Given the description of an element on the screen output the (x, y) to click on. 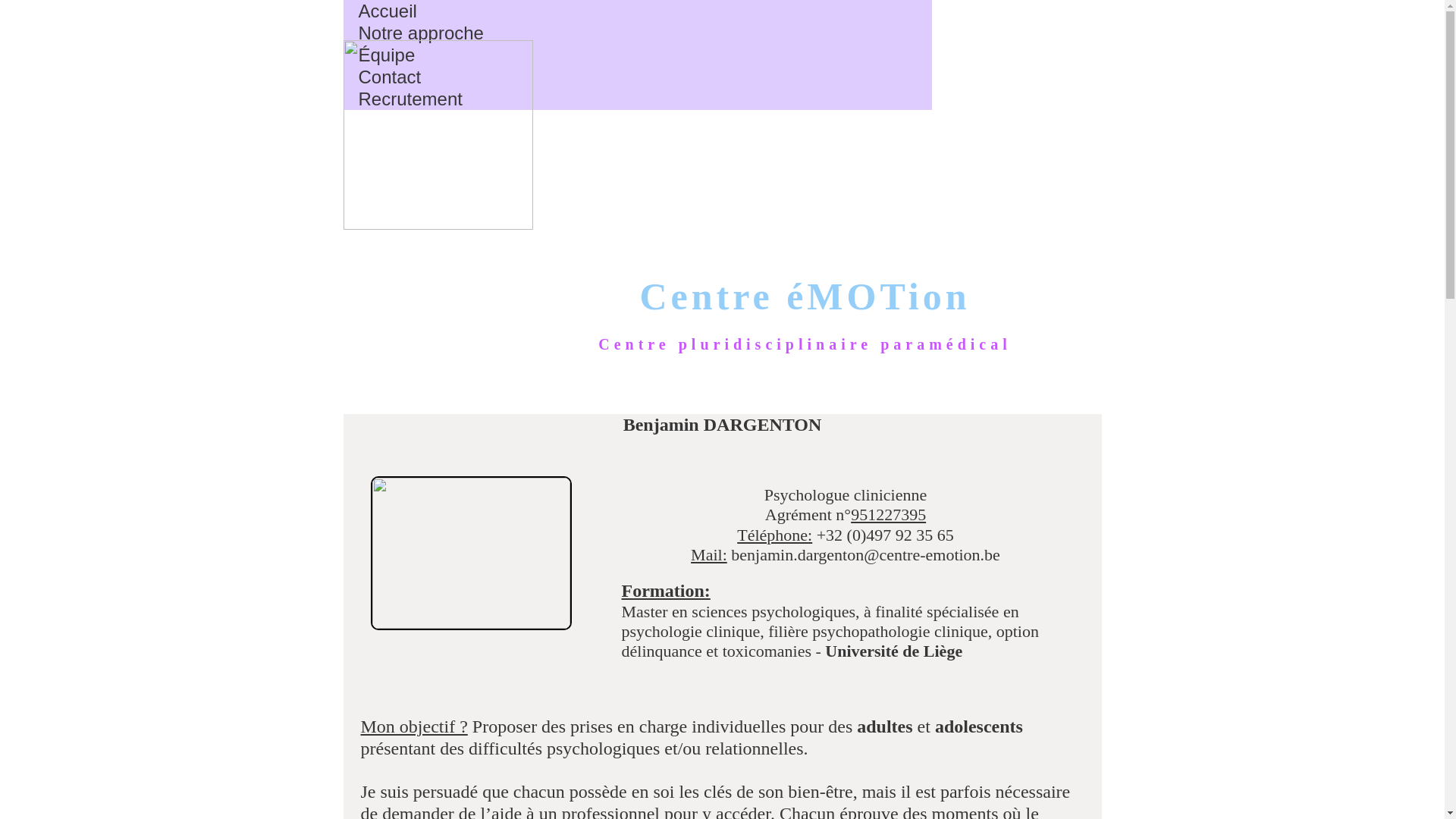
951227395 Element type: text (887, 514)
Notre approche Element type: text (420, 32)
Contact Element type: text (389, 76)
Recrutement Element type: text (409, 98)
